Given the description of an element on the screen output the (x, y) to click on. 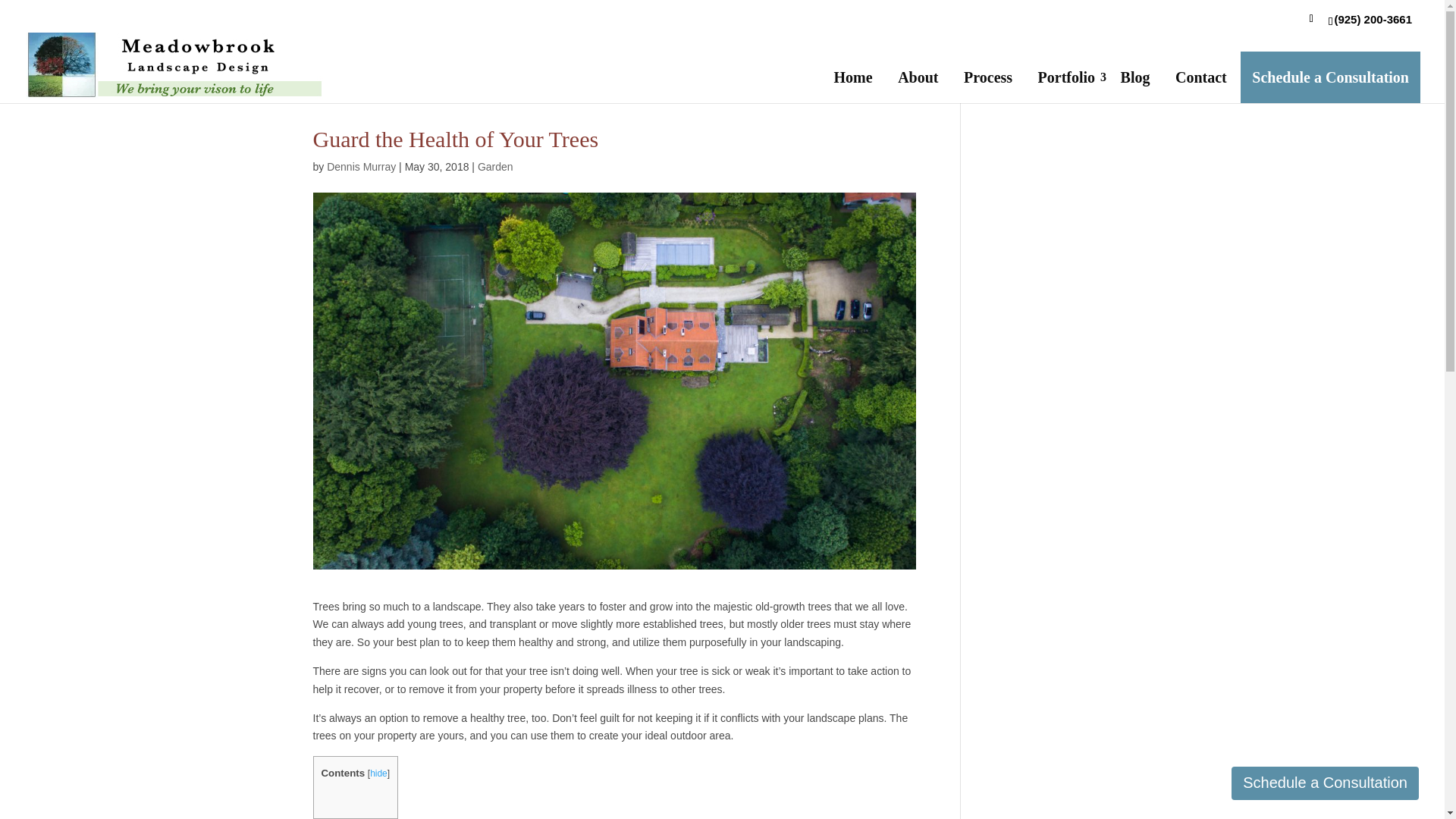
Portfolio (1066, 77)
Schedule a Consultation (1324, 783)
Posts by Dennis Murray (361, 166)
Blog (1135, 77)
Schedule a Consultation (1330, 77)
hide (378, 773)
Home (852, 77)
Process (987, 77)
Dennis Murray (361, 166)
Garden (495, 166)
